Given the description of an element on the screen output the (x, y) to click on. 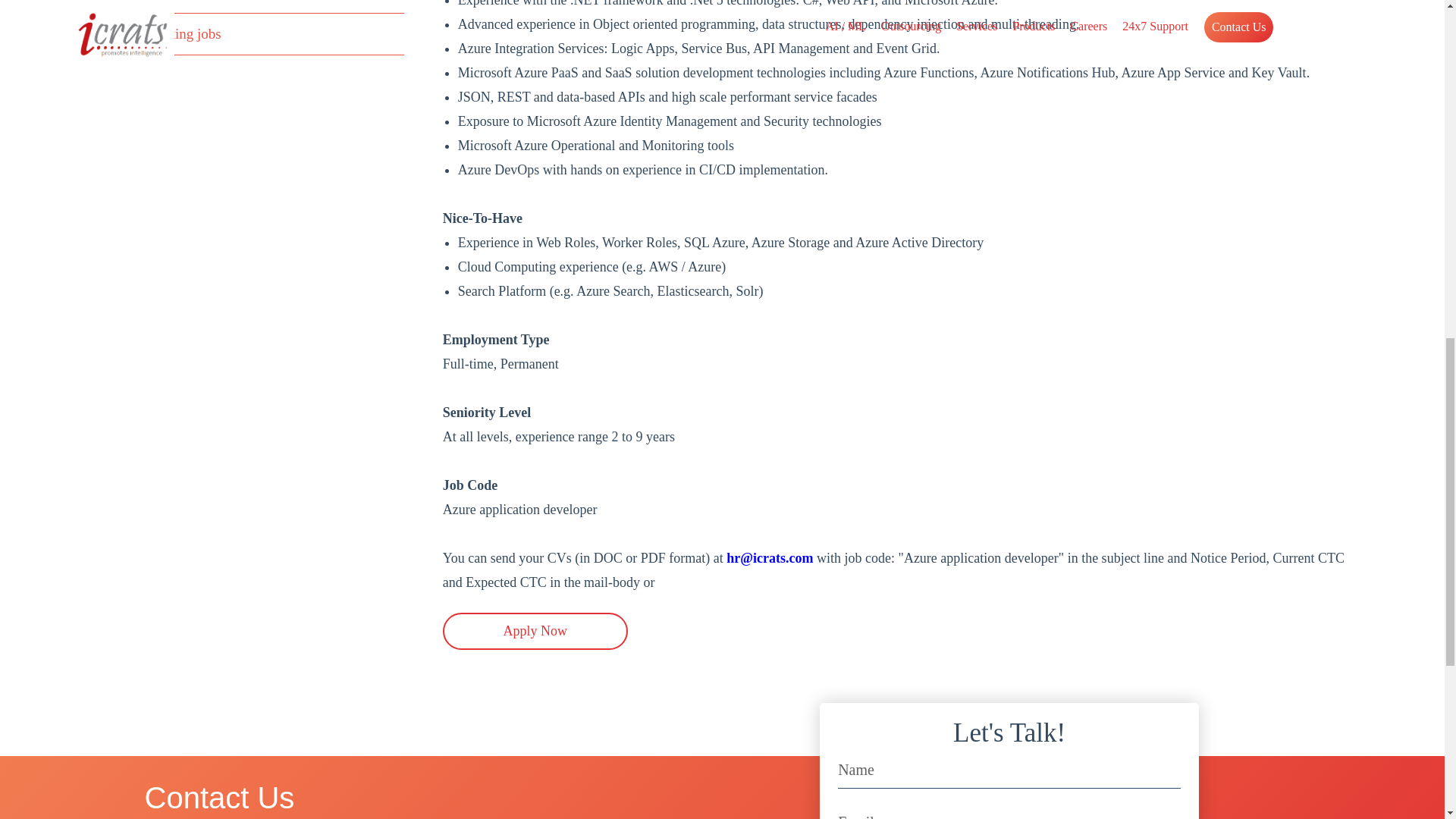
Product marketing jobs (153, 33)
Apply Now (534, 631)
